Given the description of an element on the screen output the (x, y) to click on. 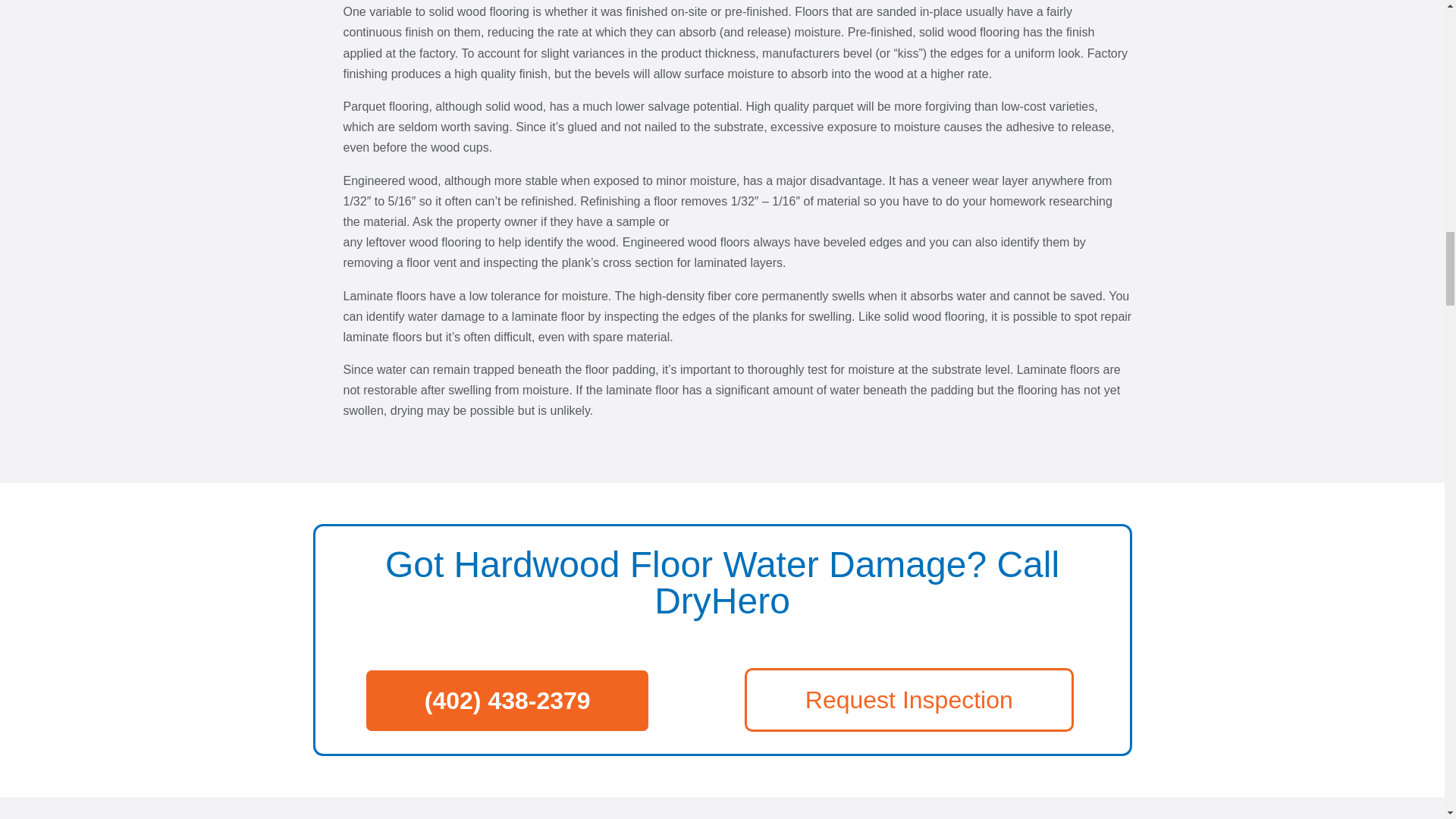
Request Inspection (909, 700)
